Given the description of an element on the screen output the (x, y) to click on. 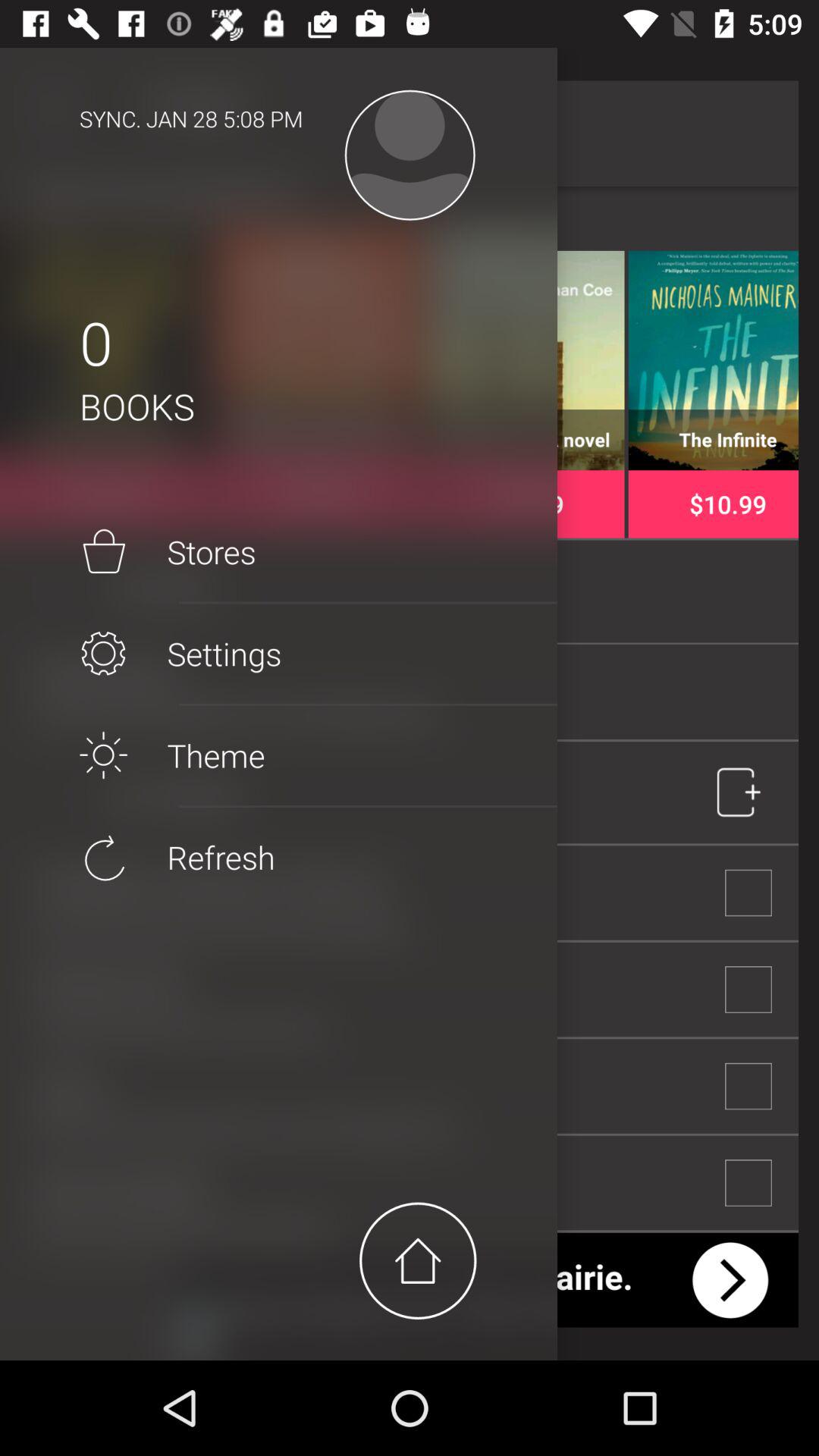
click on the home symbol icon (417, 1260)
